Given the description of an element on the screen output the (x, y) to click on. 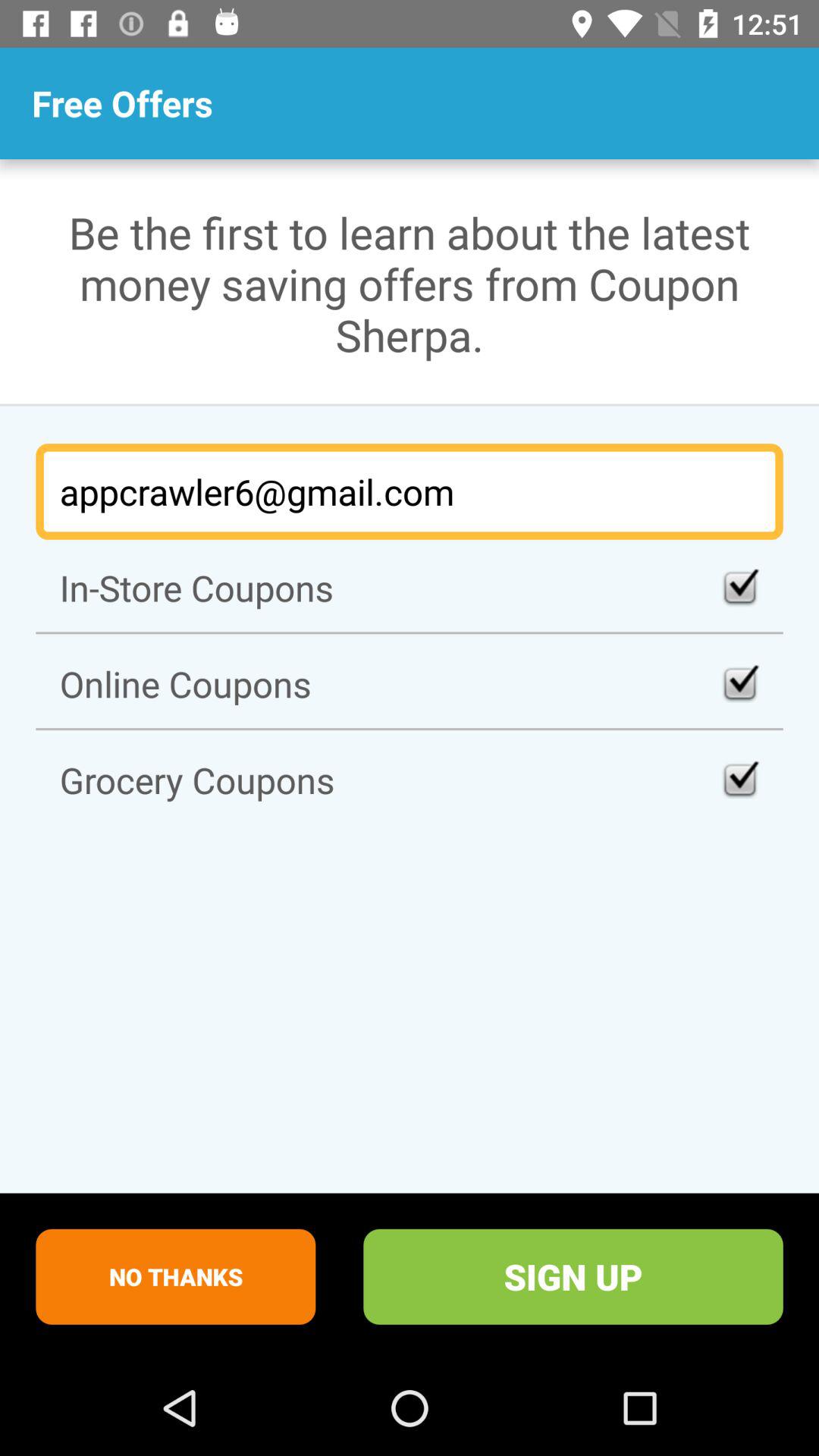
swipe until appcrawler6@gmail.com icon (409, 491)
